Given the description of an element on the screen output the (x, y) to click on. 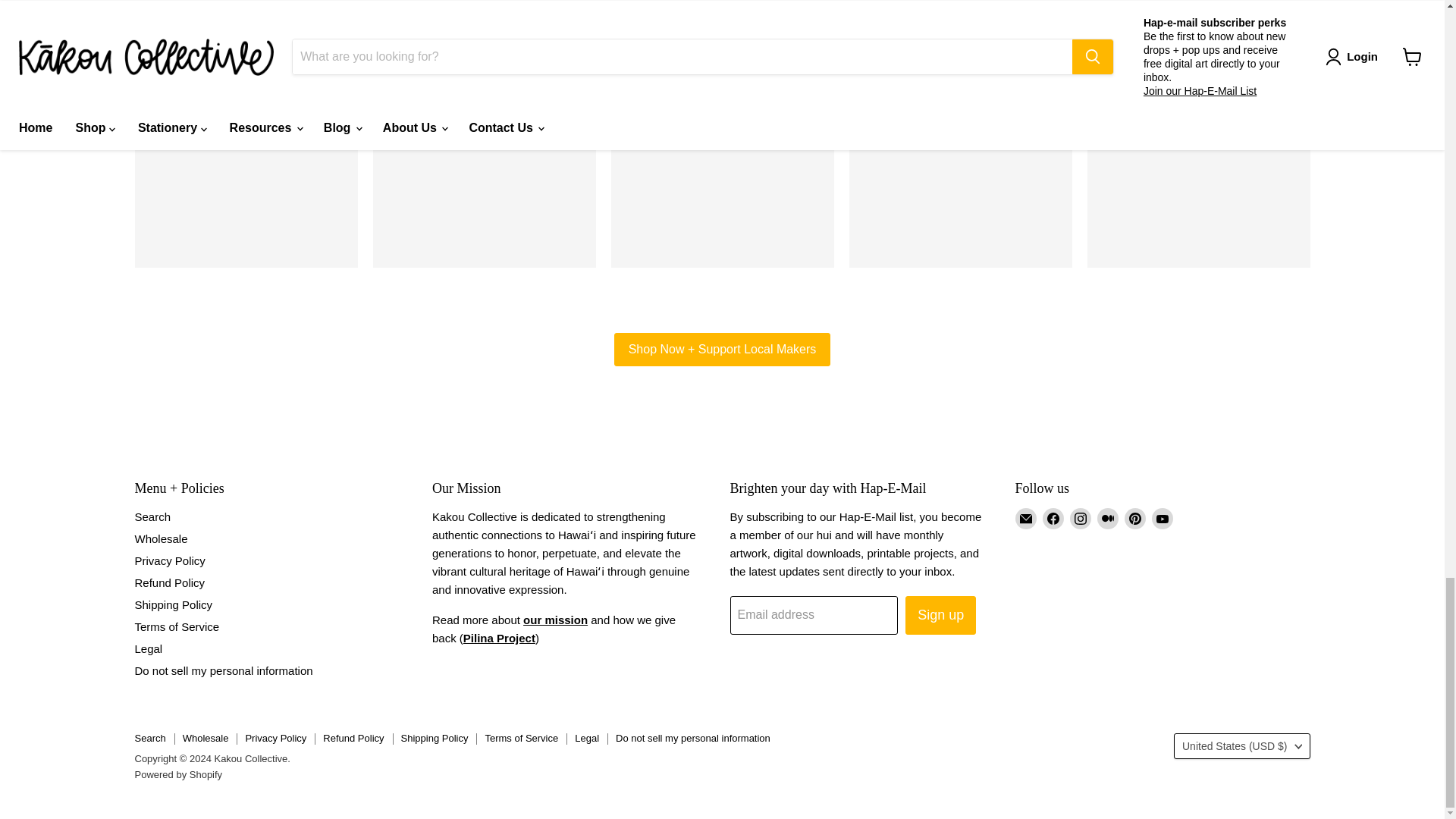
Medium (1107, 518)
Facebook (1052, 518)
Pinterest (1134, 518)
Email (1024, 518)
YouTube (1161, 518)
Instagram (1079, 518)
